Given the description of an element on the screen output the (x, y) to click on. 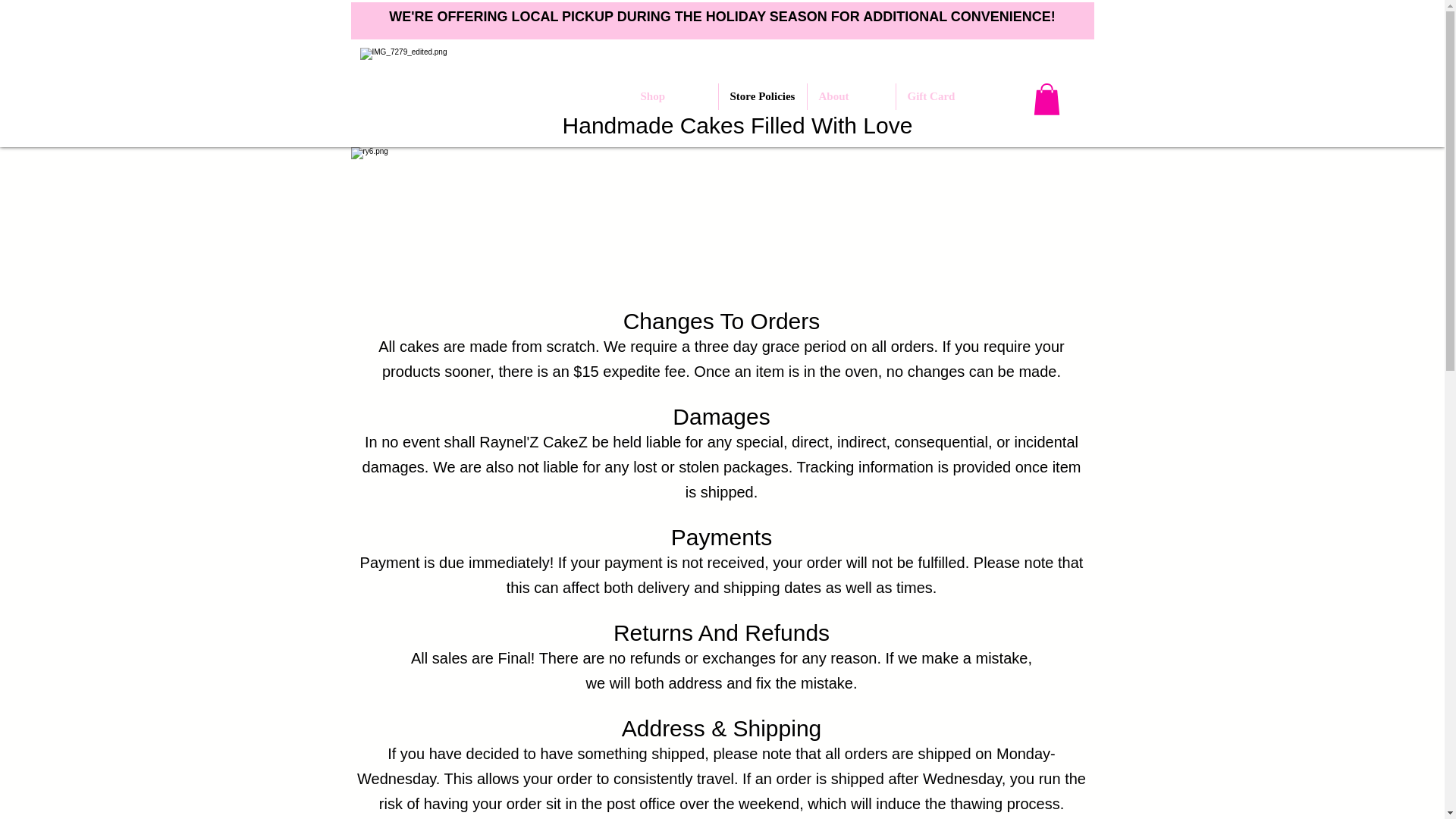
Gift Card (940, 96)
Shop (672, 96)
Store Policies (762, 96)
About (850, 96)
